Given the description of an element on the screen output the (x, y) to click on. 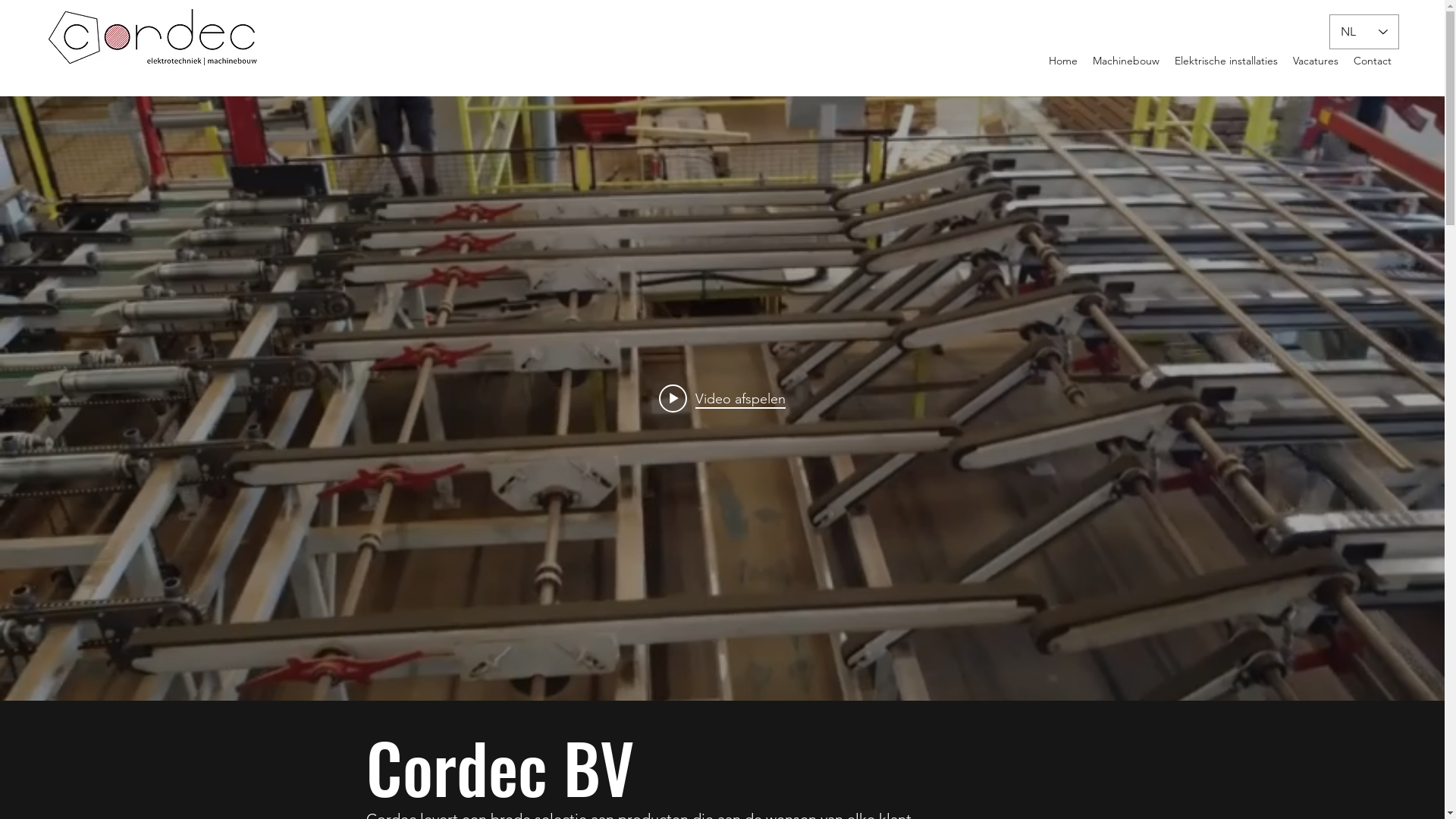
Vacatures Element type: text (1315, 60)
Machinebouw Element type: text (1126, 60)
Video afspelen Element type: text (721, 397)
Elektrische installaties Element type: text (1226, 60)
Contact Element type: text (1372, 60)
Home Element type: text (1063, 60)
